Given the description of an element on the screen output the (x, y) to click on. 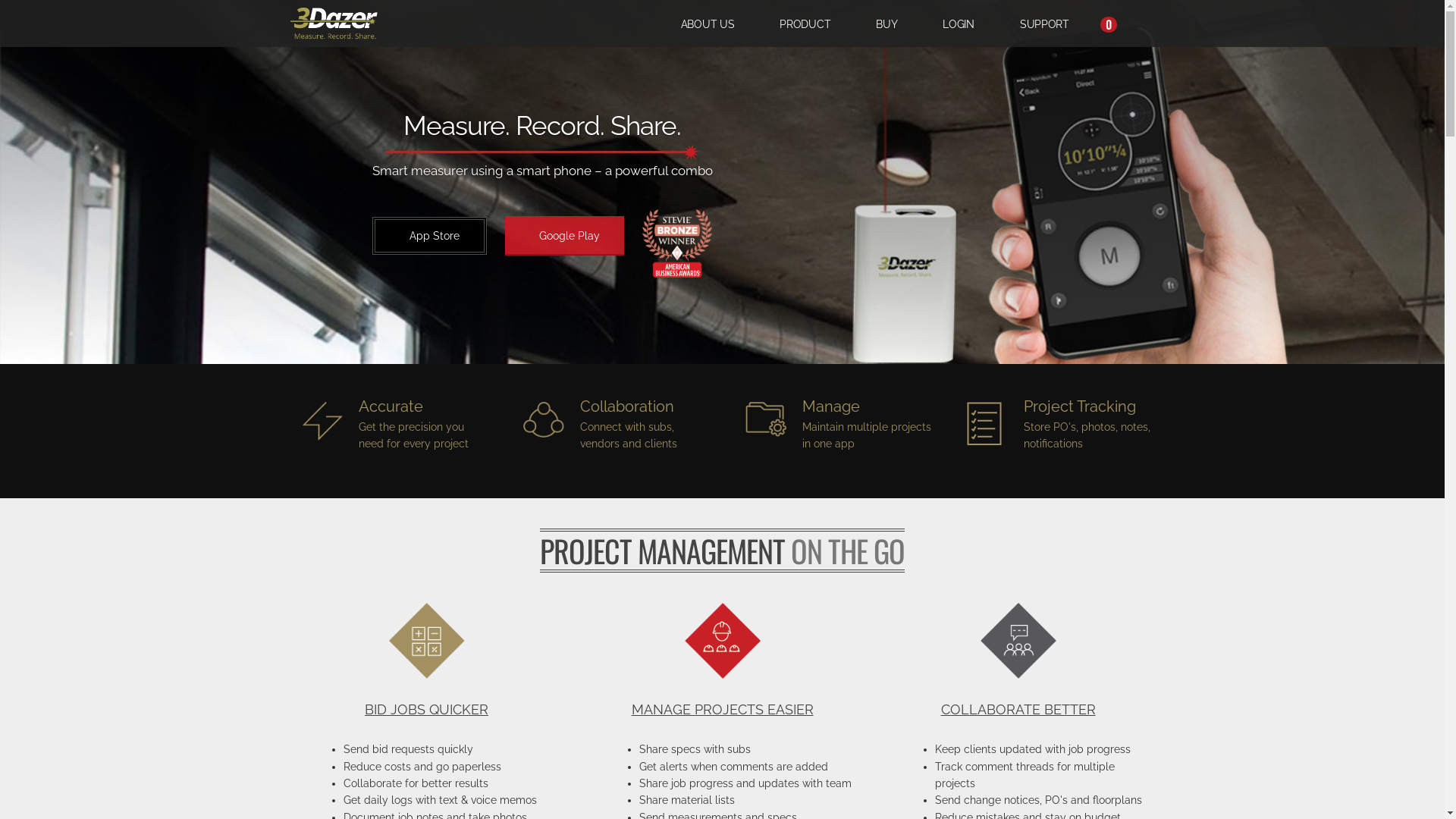
ABOUT US Element type: text (707, 23)
COLLABORATE BETTER Element type: text (1017, 709)
LOGIN Element type: text (958, 23)
  App Store Element type: text (429, 235)
BUY Element type: text (886, 23)
MANAGE PROJECTS EASIER Element type: text (721, 709)
BID JOBS QUICKER Element type: text (425, 709)
PRODUCT Element type: text (804, 23)
  Google Play Element type: text (564, 235)
SUPPORT Element type: text (1044, 23)
0 Element type: text (1104, 23)
